Given the description of an element on the screen output the (x, y) to click on. 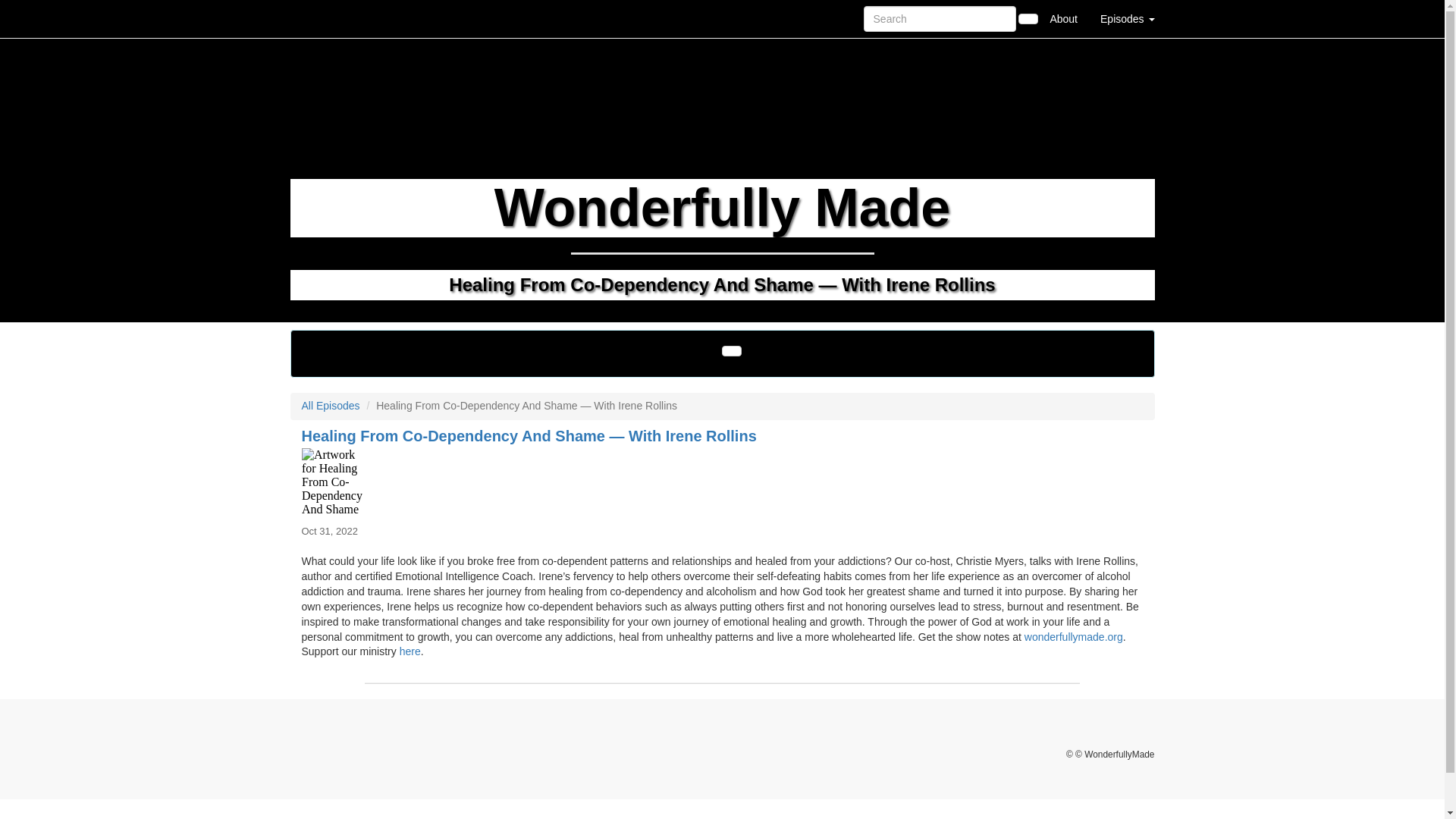
About (1063, 18)
Home Page (320, 18)
Episodes (1127, 18)
